Given the description of an element on the screen output the (x, y) to click on. 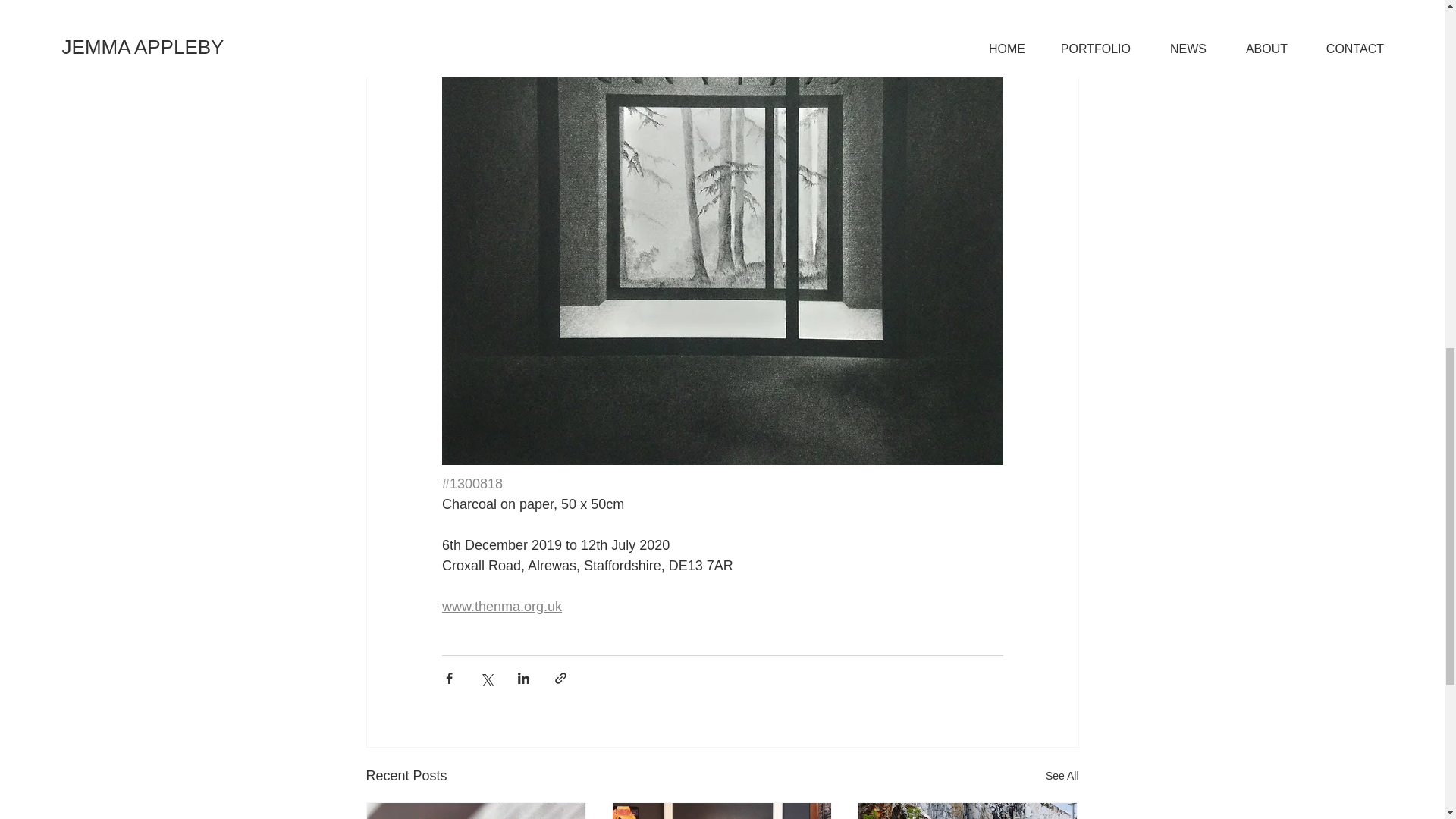
See All (1061, 775)
www.thenma.org.uk (500, 606)
